Given the description of an element on the screen output the (x, y) to click on. 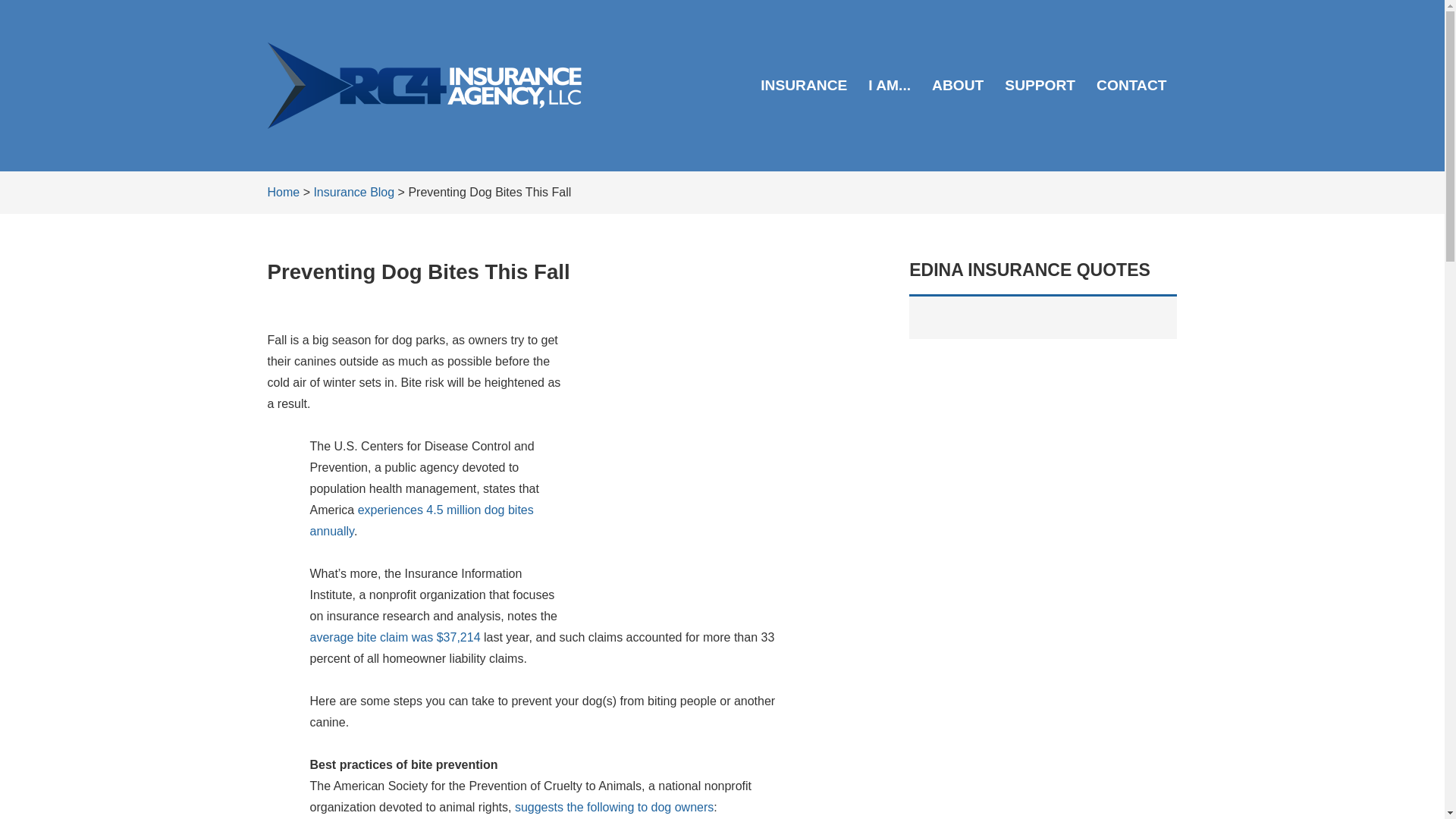
INSURANCE (803, 85)
I AM... (889, 85)
RC4 Insurance Agency (423, 85)
